Given the description of an element on the screen output the (x, y) to click on. 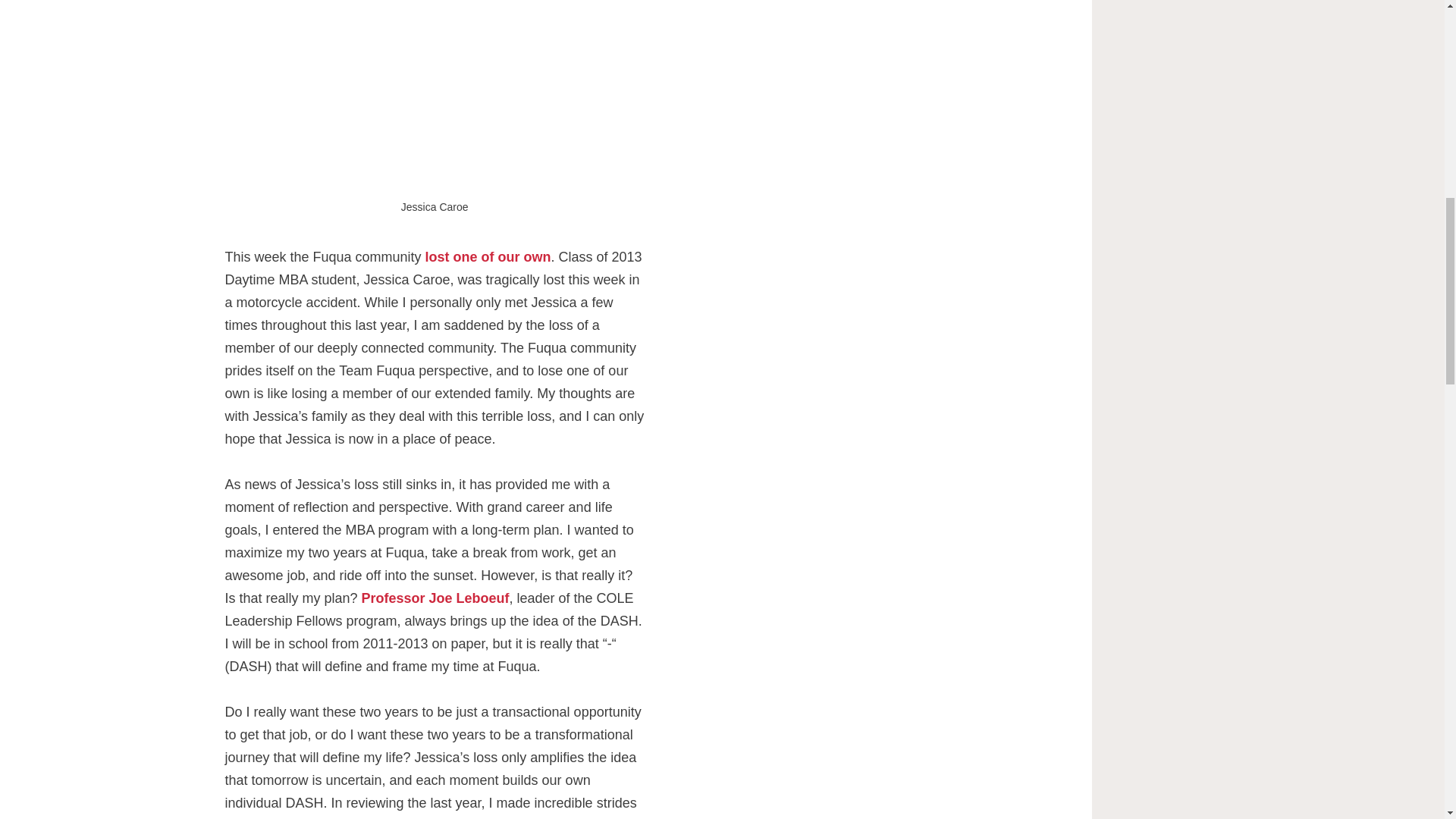
lost one of our own (488, 256)
Professor Joe Leboeuf (434, 598)
jessica caroe (434, 99)
Jessice Caroe (488, 256)
